Given the description of an element on the screen output the (x, y) to click on. 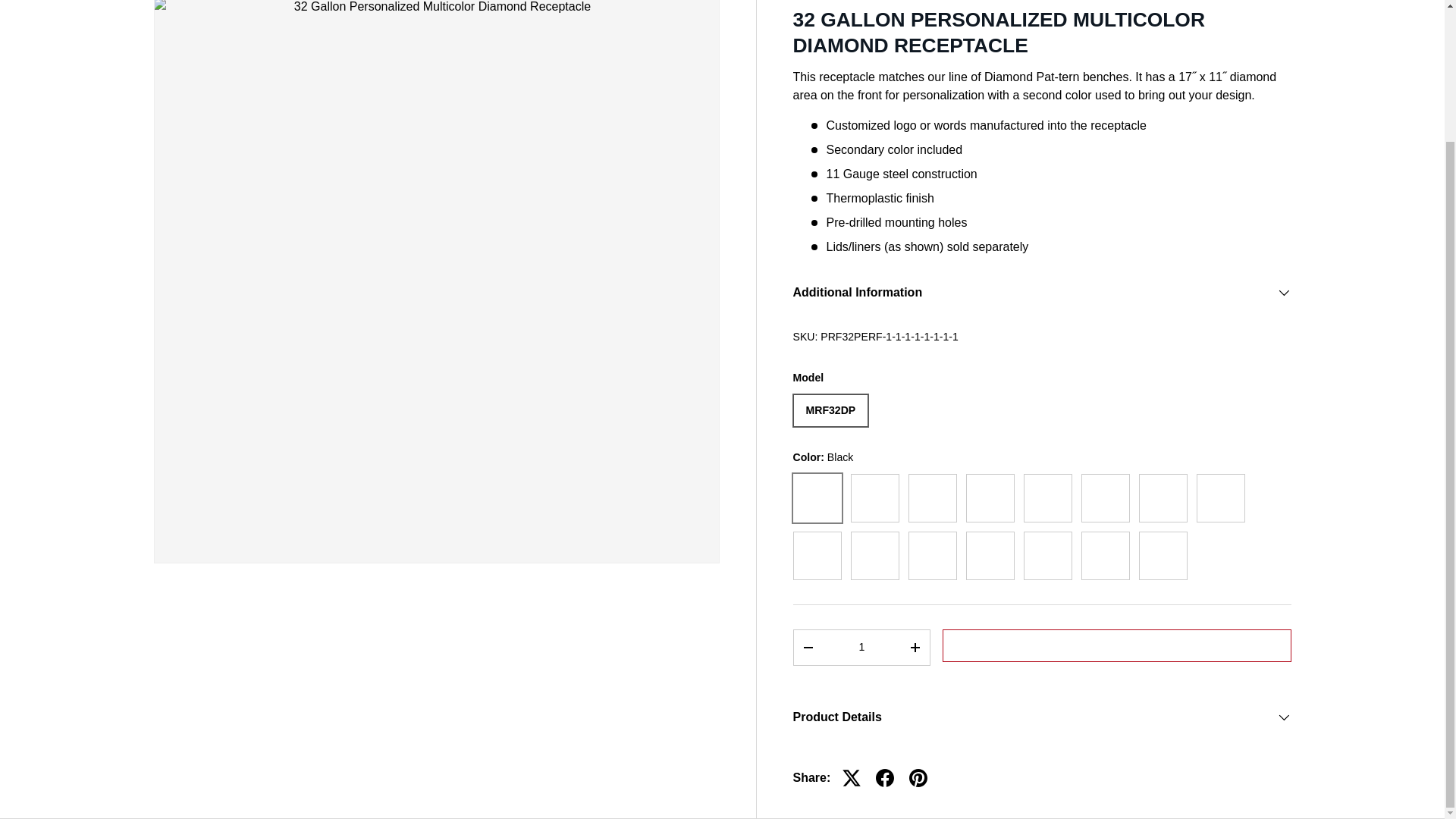
Pin on Pinterest (917, 777)
Share on Facebook (884, 777)
1 (861, 646)
